Given the description of an element on the screen output the (x, y) to click on. 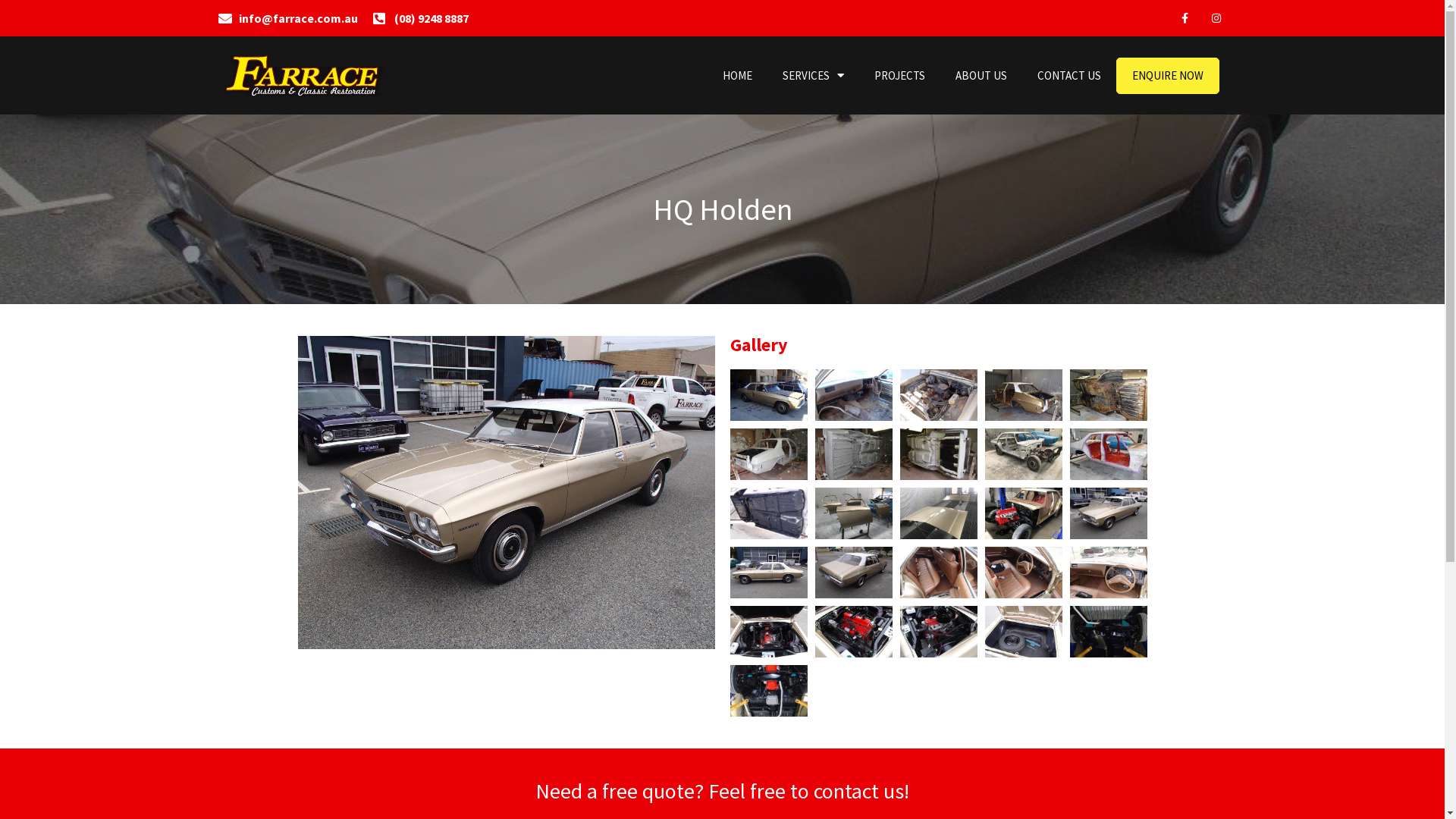
ABOUT US Element type: text (981, 75)
SERVICES Element type: text (813, 75)
(08) 9248 8887 Element type: text (420, 18)
info@farrace.com.au Element type: text (288, 18)
Send Element type: text (554, 558)
HOME Element type: text (736, 75)
CONTACT US Element type: text (1069, 75)
ENQUIRE NOW Element type: text (1167, 75)
PROJECTS Element type: text (898, 75)
